Given the description of an element on the screen output the (x, y) to click on. 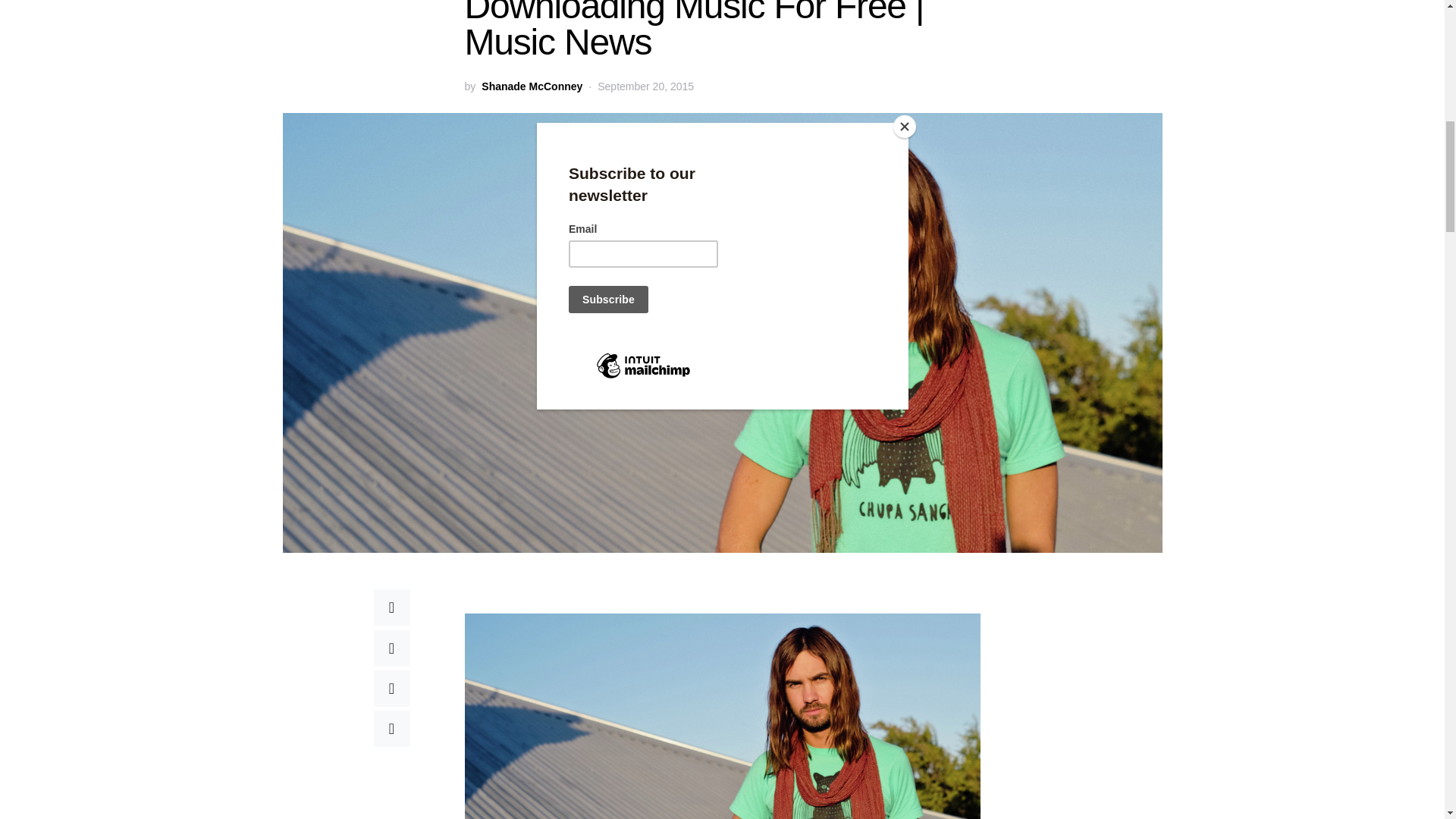
View all posts by Shanade McConney (531, 86)
